Given the description of an element on the screen output the (x, y) to click on. 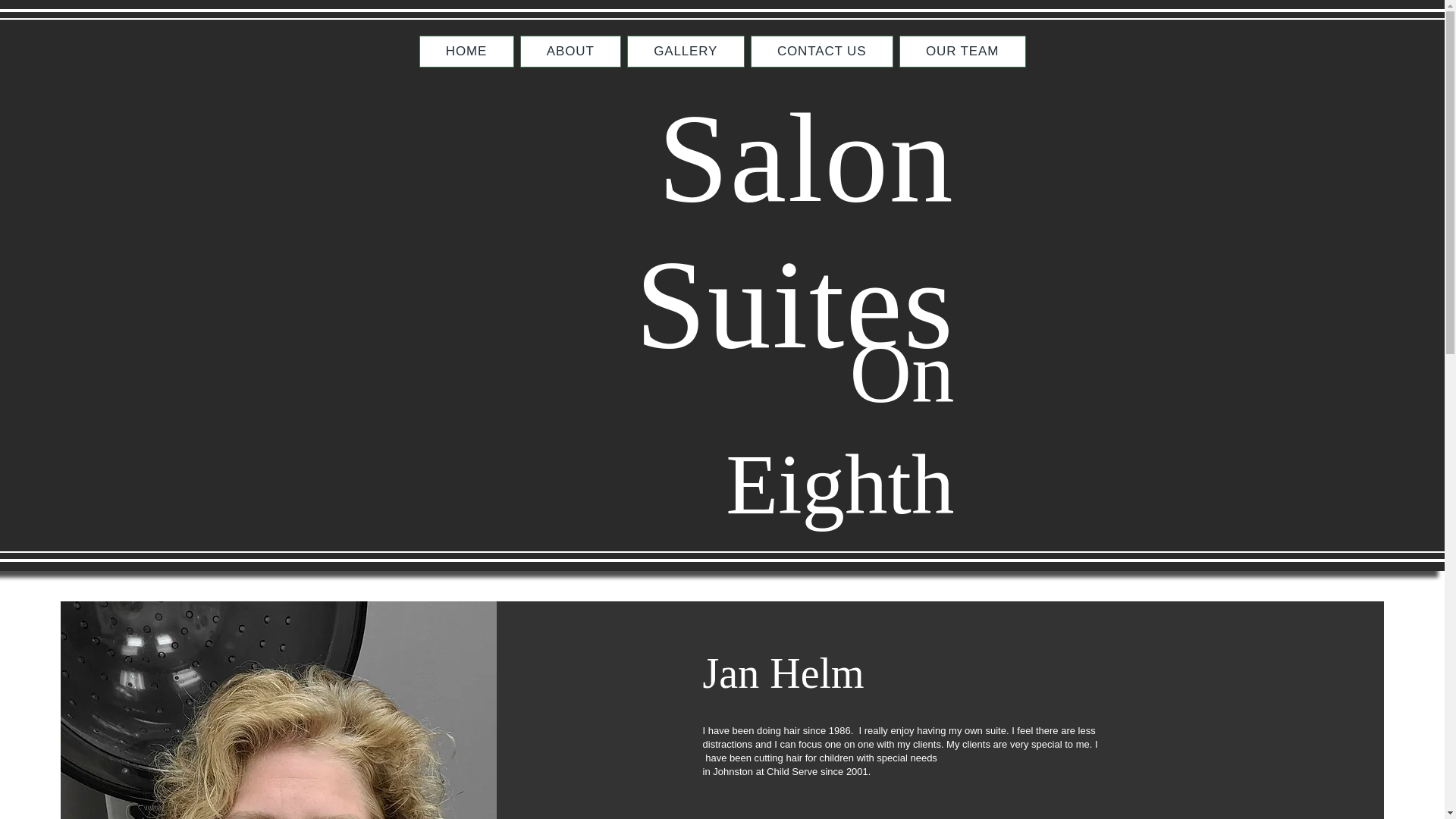
HOME (466, 51)
ABOUT (570, 51)
CONTACT US (822, 51)
OUR TEAM (962, 51)
GALLERY (685, 51)
